Given the description of an element on the screen output the (x, y) to click on. 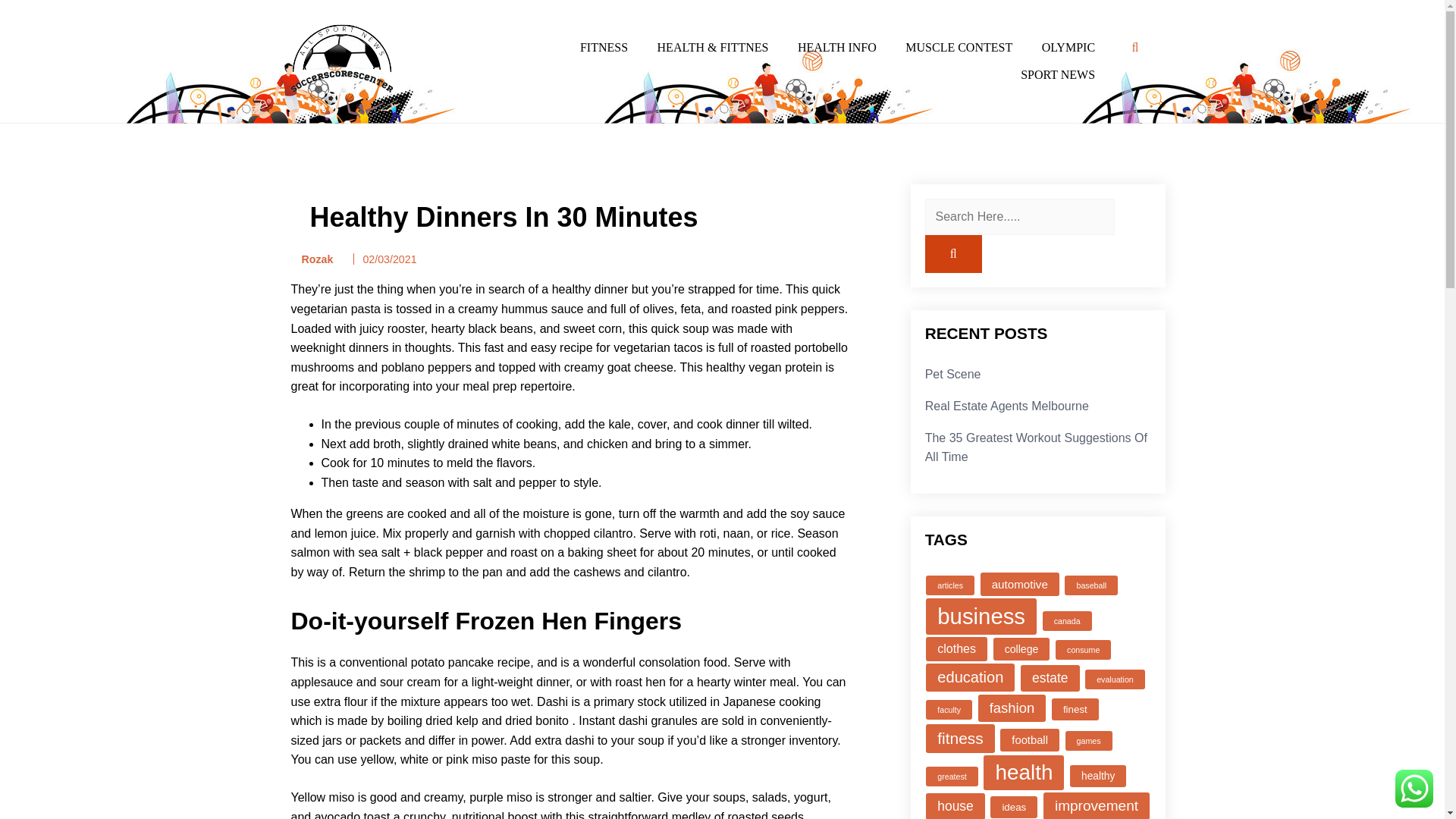
automotive (1019, 584)
OLYMPIC (1068, 47)
Pet Scene (952, 373)
SSC (292, 116)
business (981, 616)
clothes (956, 648)
MUSCLE CONTEST (958, 47)
baseball (1091, 585)
articles (950, 585)
FITNESS (603, 47)
Real Estate Agents Melbourne (1006, 405)
Rozak (312, 259)
The 35 Greatest Workout Suggestions Of All Time (1035, 446)
SPORT NEWS (1057, 74)
HEALTH INFO (836, 47)
